Given the description of an element on the screen output the (x, y) to click on. 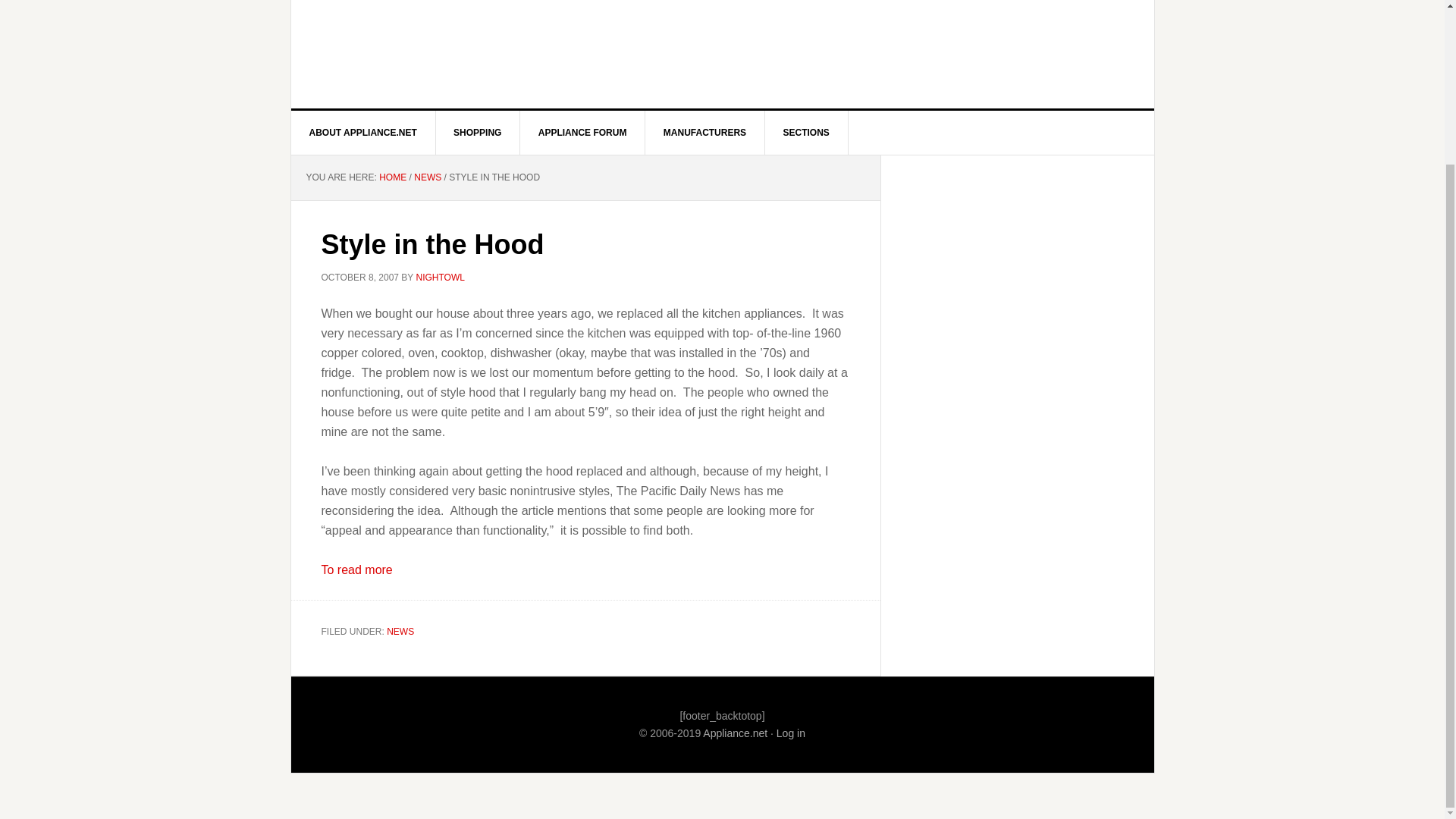
SECTIONS (805, 132)
Appliance .net - home and kitchen appliance news and reviews (735, 733)
ABOUT APPLIANCE.NET (363, 132)
HOME (392, 176)
Advertisement (946, 20)
MANUFACTURERS (705, 132)
APPLIANCE FORUM (582, 132)
SHOPPING (477, 132)
NEWS (427, 176)
